Given the description of an element on the screen output the (x, y) to click on. 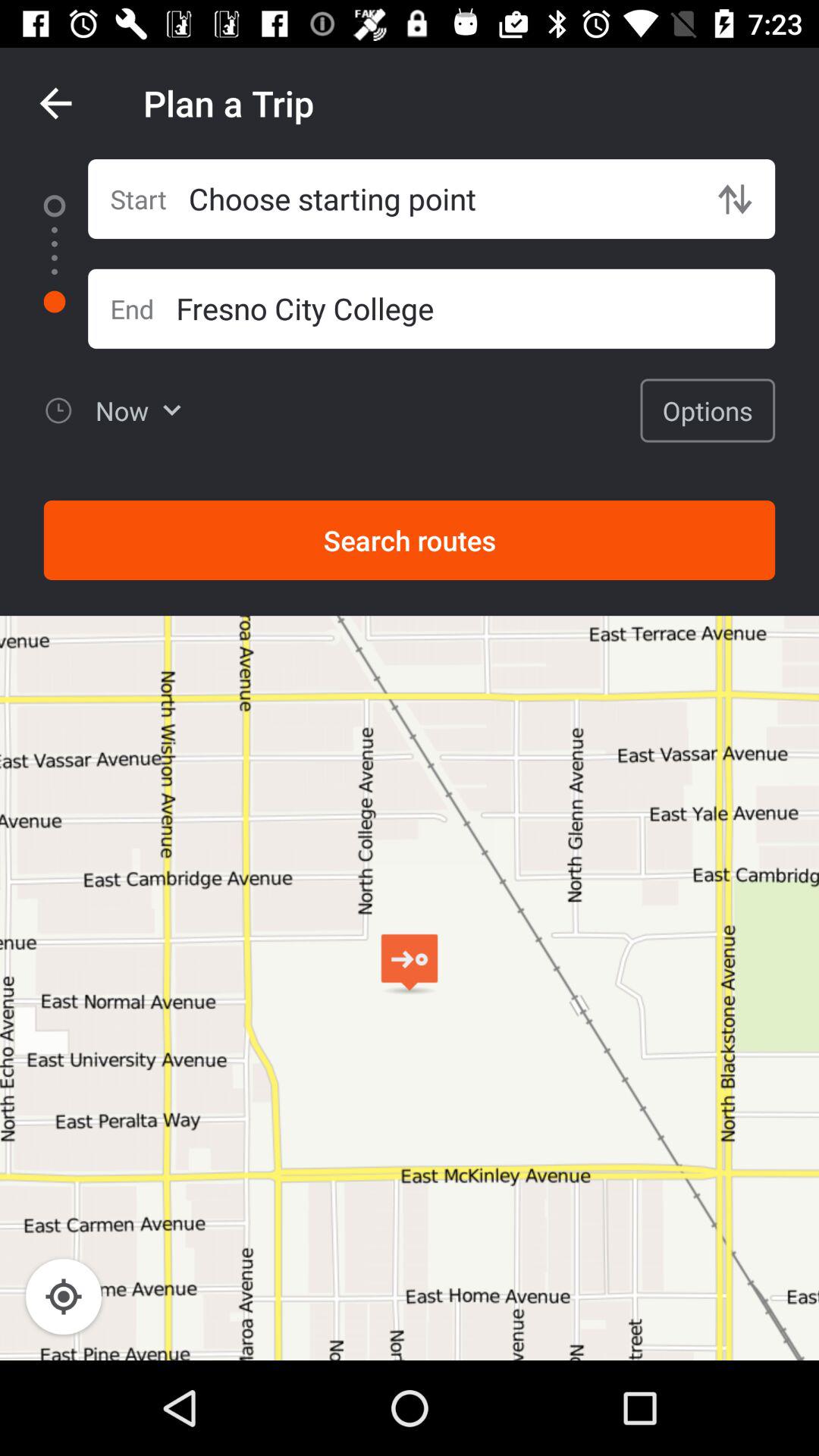
turn off item above the search routes item (707, 410)
